Given the description of an element on the screen output the (x, y) to click on. 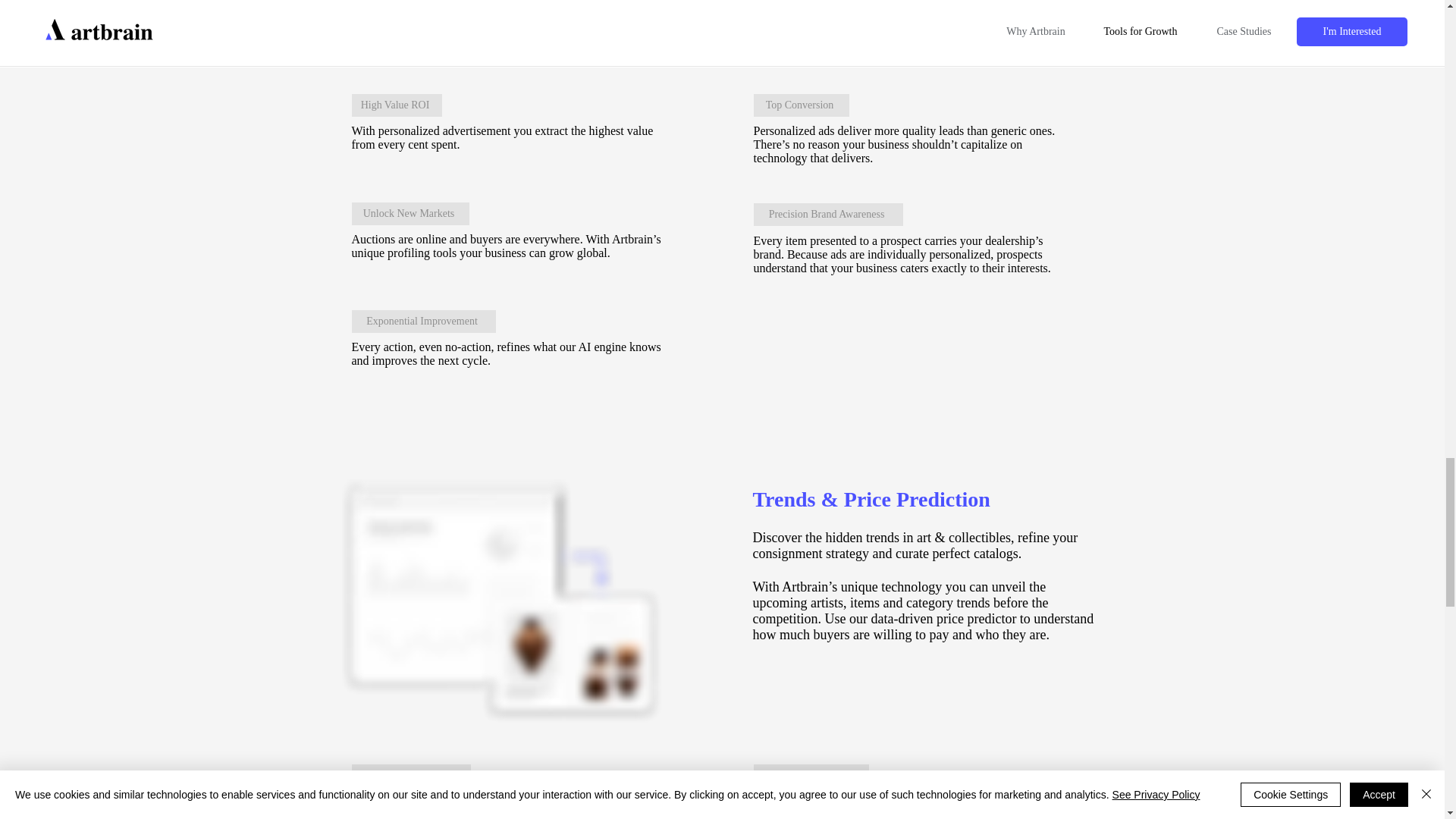
Exponential Improvement (424, 321)
Precision Brand Awareness (828, 214)
High Value ROI (397, 105)
Unlock New Markets (410, 213)
Top Conversion (801, 105)
Priceless Intelligence (411, 775)
Focus Your Business (811, 775)
